Given the description of an element on the screen output the (x, y) to click on. 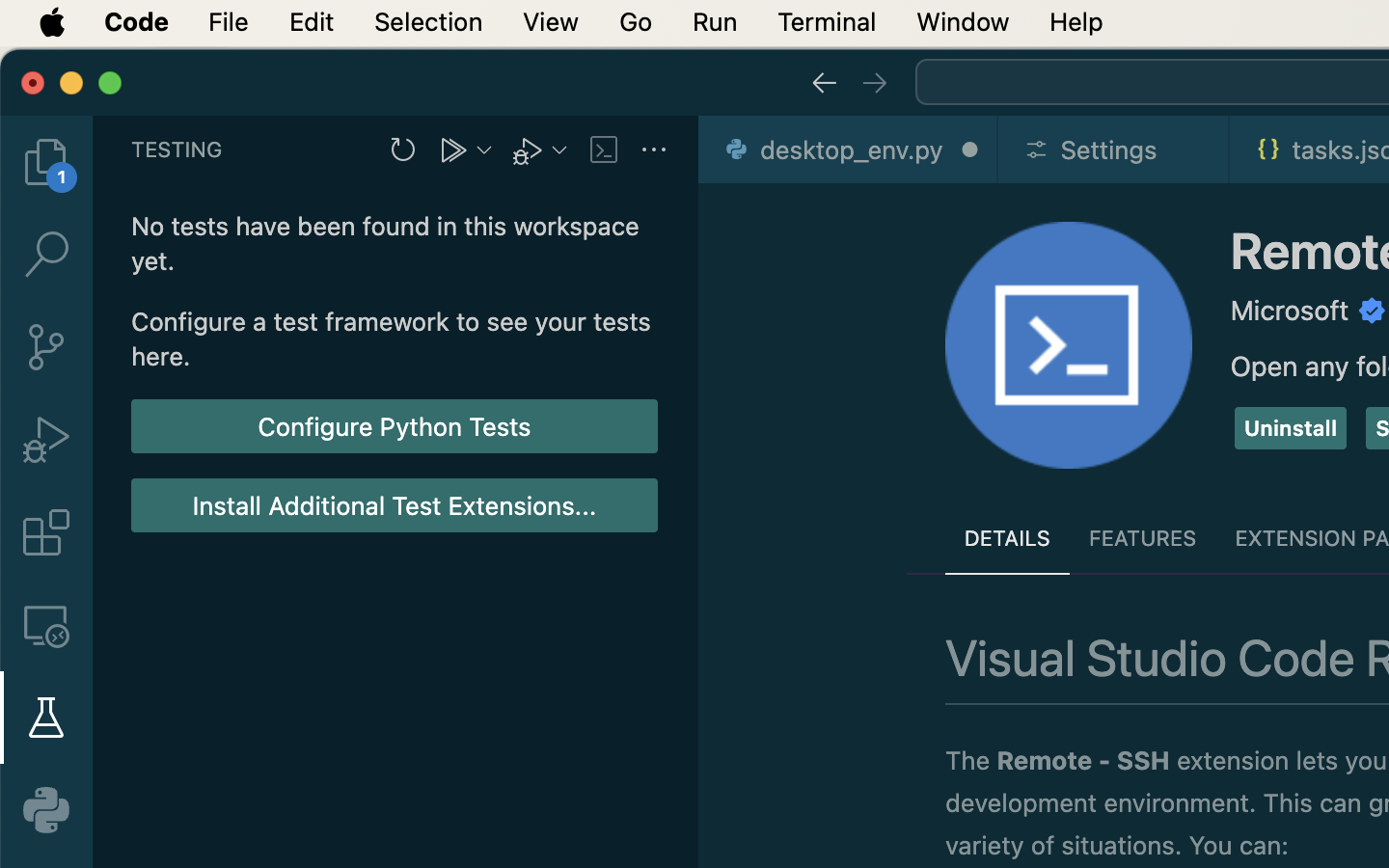
0  Element type: AXRadioButton (46, 346)
1  Element type: AXRadioButton (46, 717)
0  Element type: AXRadioButton (46, 161)
The Element type: AXStaticText (971, 760)
0  Element type: AXRadioButton (46, 439)
